Given the description of an element on the screen output the (x, y) to click on. 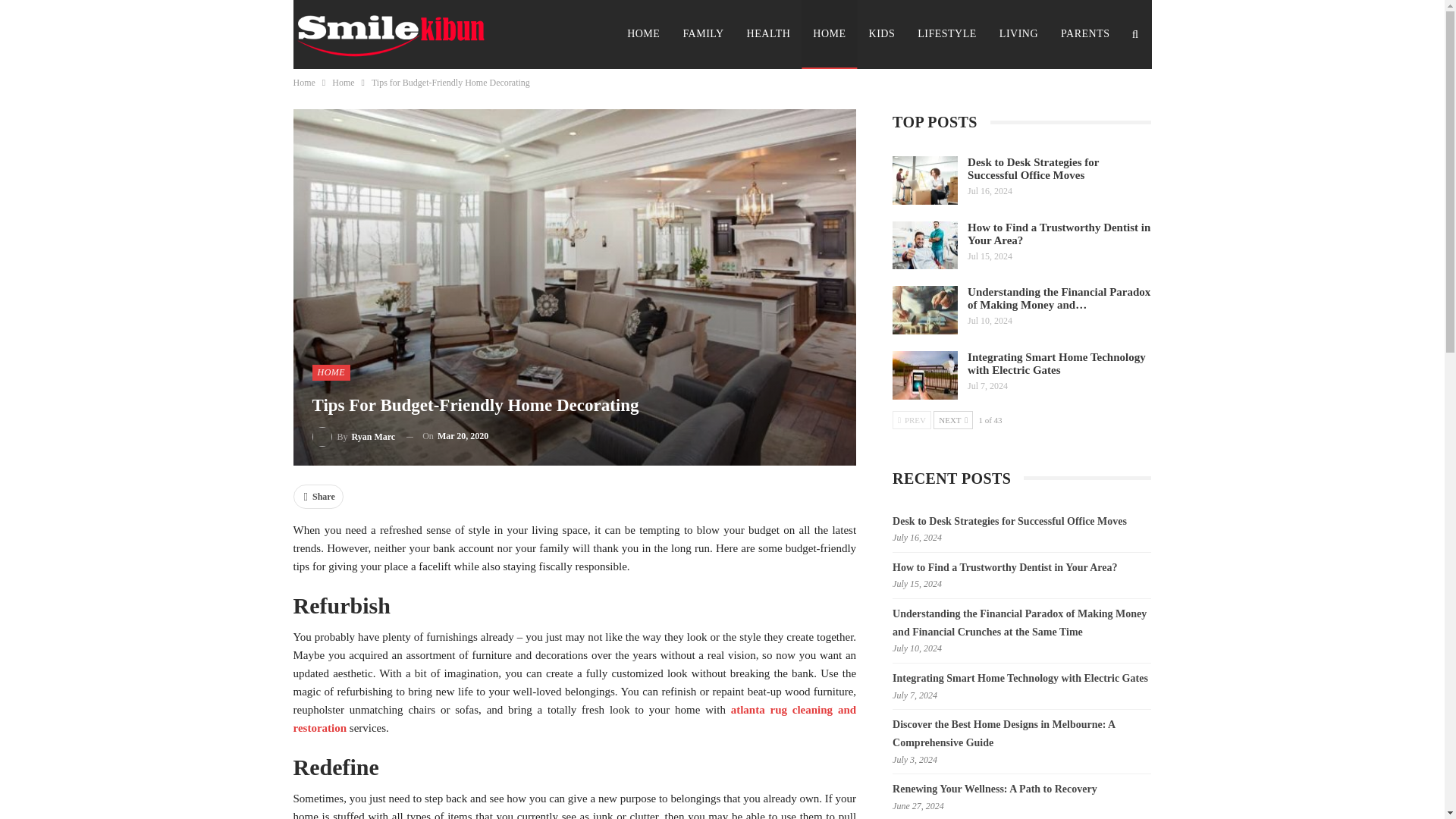
LIFESTYLE (946, 33)
PARENTS (1085, 33)
By Ryan Marc (354, 435)
LIVING (1018, 33)
HEALTH (768, 33)
HOME (331, 372)
atlanta rug cleaning and restoration (574, 718)
Home (303, 82)
Desk to Desk Strategies for Successful Office Moves (925, 180)
FAMILY (703, 33)
Home (342, 82)
Browse Author Articles (354, 435)
